Given the description of an element on the screen output the (x, y) to click on. 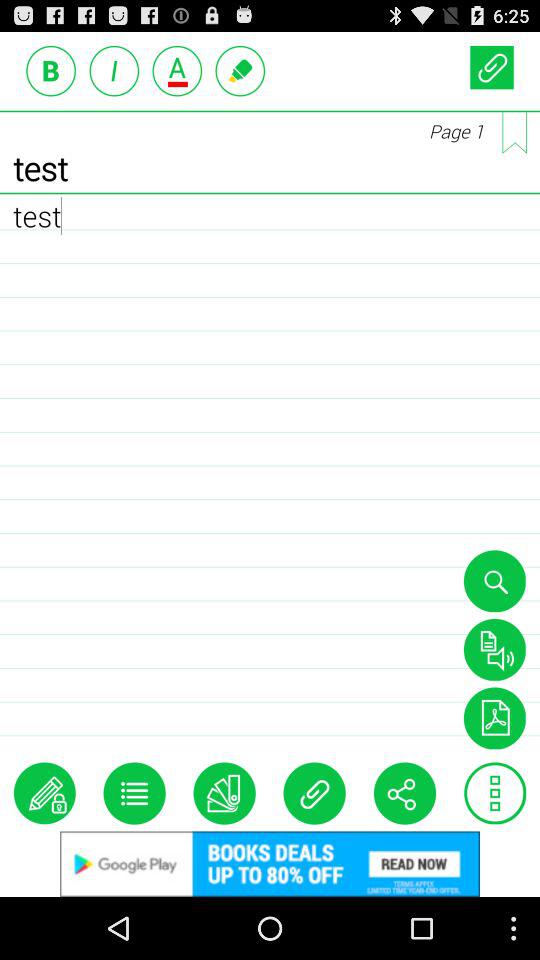
add/remove underline (177, 70)
